Given the description of an element on the screen output the (x, y) to click on. 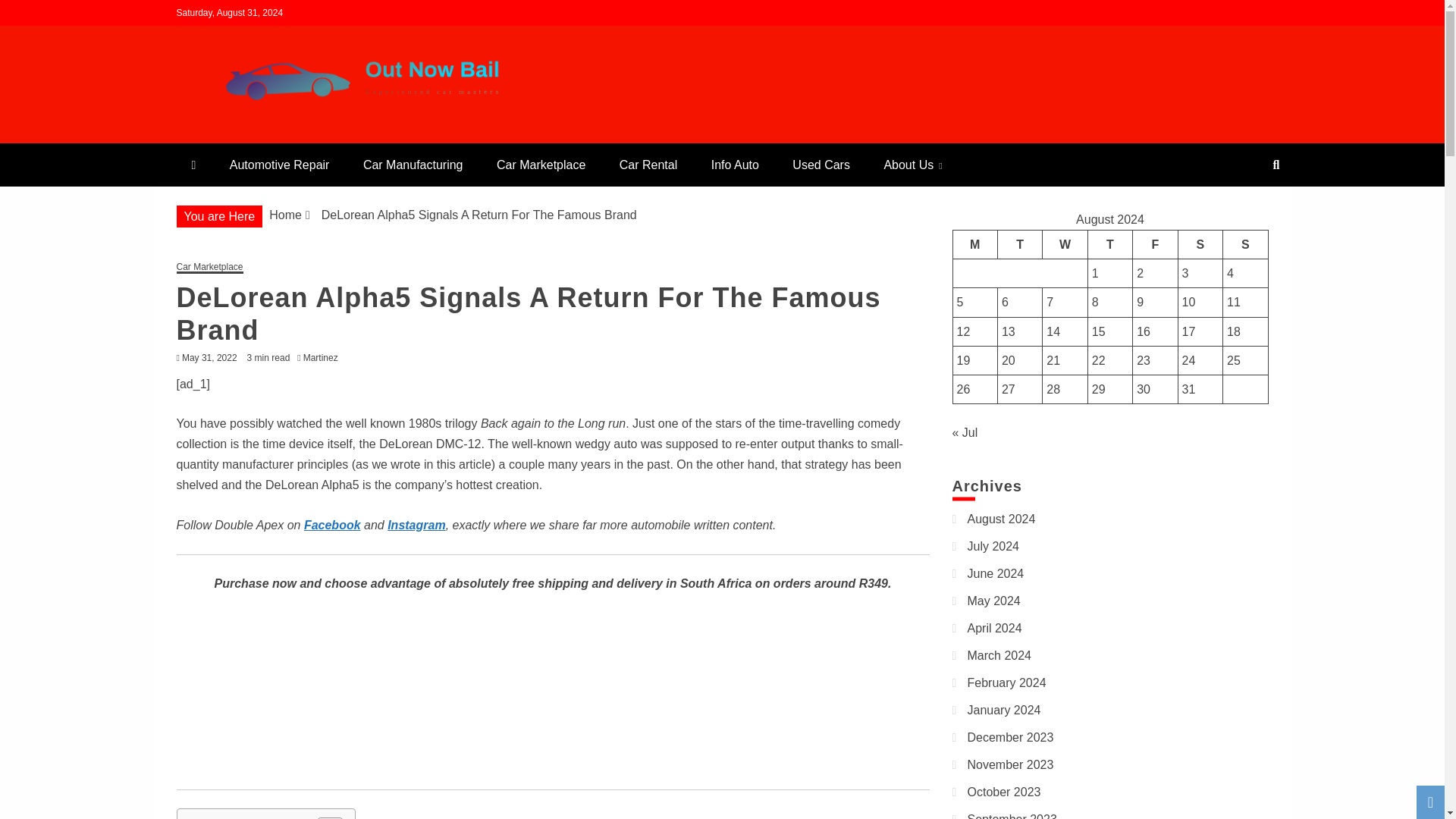
Wednesday (1064, 244)
Friday (1154, 244)
Car Marketplace (540, 164)
Automotive Repair (279, 164)
Car Manufacturing (413, 164)
Used Cars (820, 164)
Info Auto (734, 164)
May 31, 2022 (209, 357)
Out Now Bail (265, 136)
Saturday (1200, 244)
